Given the description of an element on the screen output the (x, y) to click on. 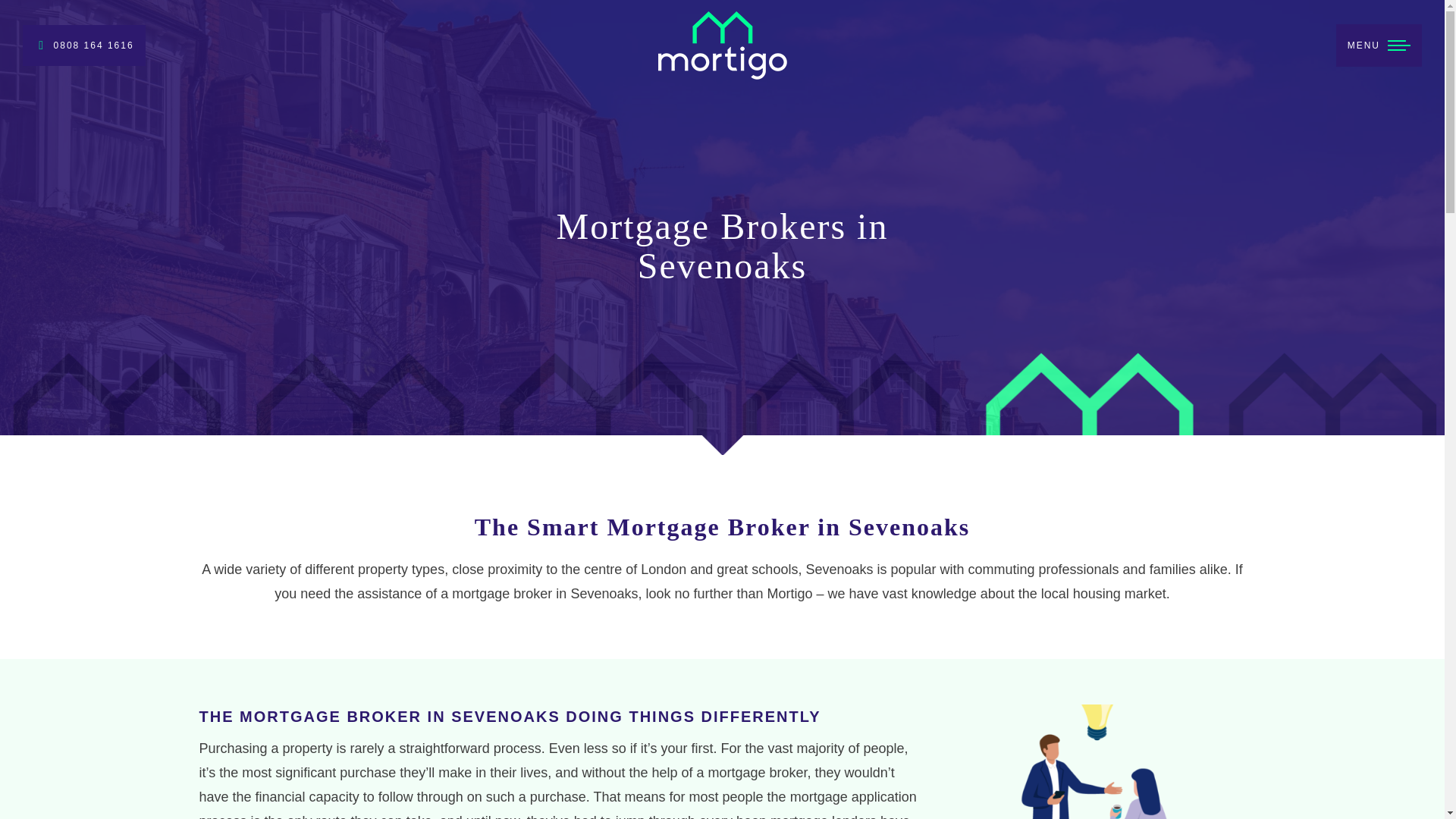
0808 164 1616 (84, 45)
MENU (1364, 45)
